Given the description of an element on the screen output the (x, y) to click on. 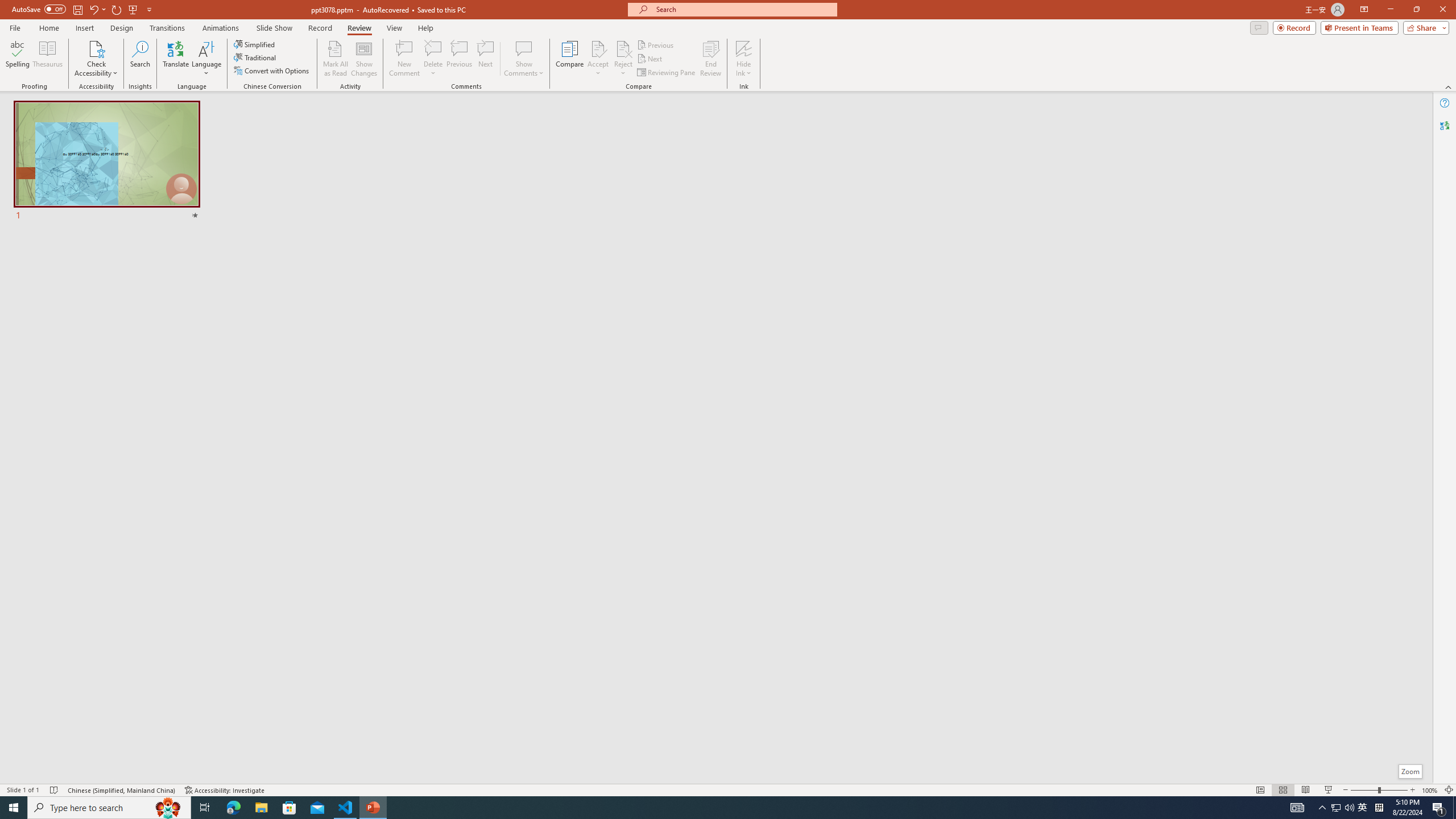
New Comment (403, 58)
Convert with Options... (272, 69)
Hide Ink (743, 58)
Check Accessibility (95, 58)
Accept Change (598, 48)
Compare (569, 58)
